Given the description of an element on the screen output the (x, y) to click on. 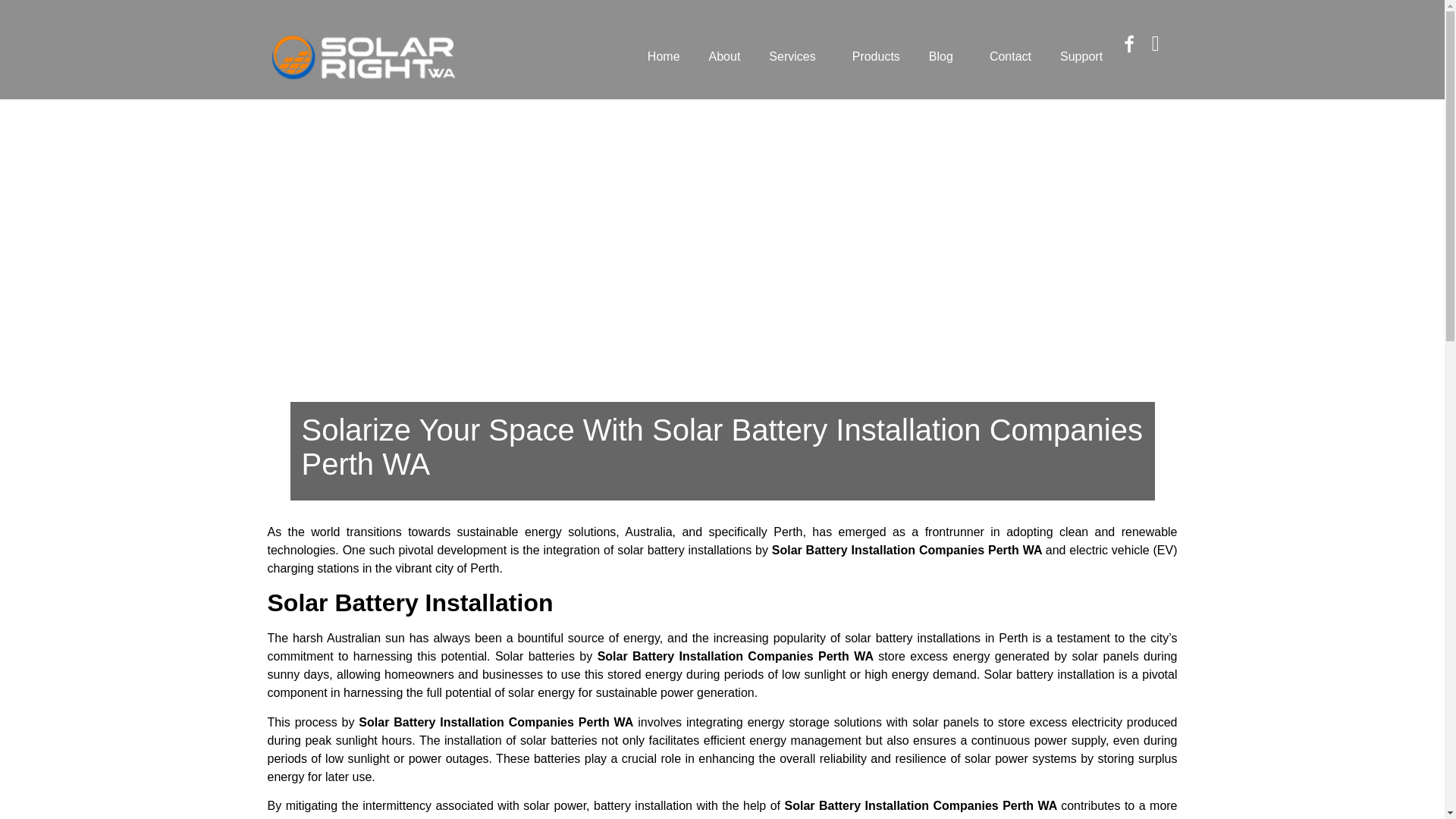
Contact (1010, 56)
Support (1080, 56)
Home (663, 56)
About (724, 56)
Blog (944, 56)
Products (876, 56)
Services (795, 56)
